Given the description of an element on the screen output the (x, y) to click on. 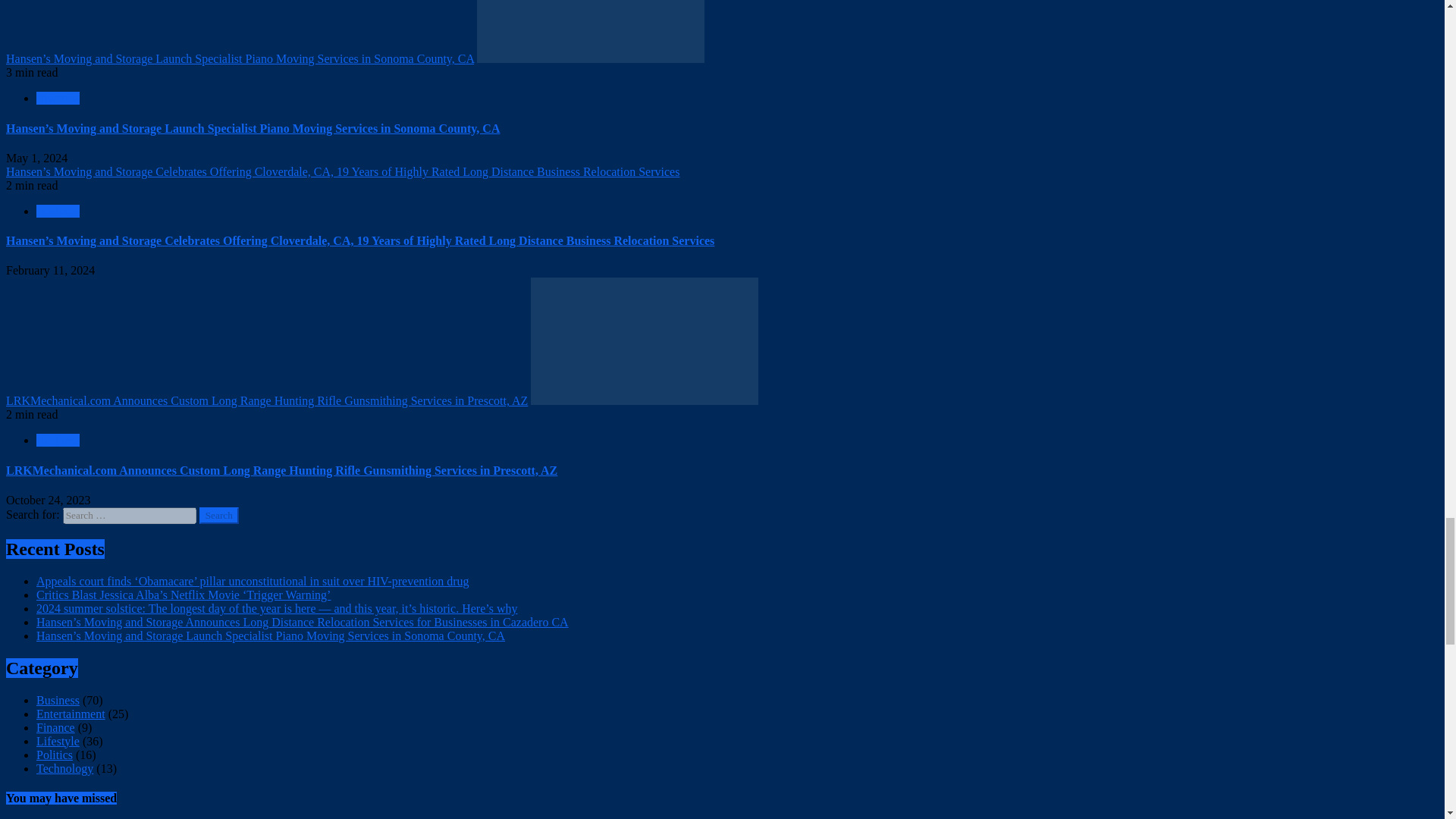
Business (58, 97)
Search (218, 515)
Business (58, 210)
Search (218, 515)
